Given the description of an element on the screen output the (x, y) to click on. 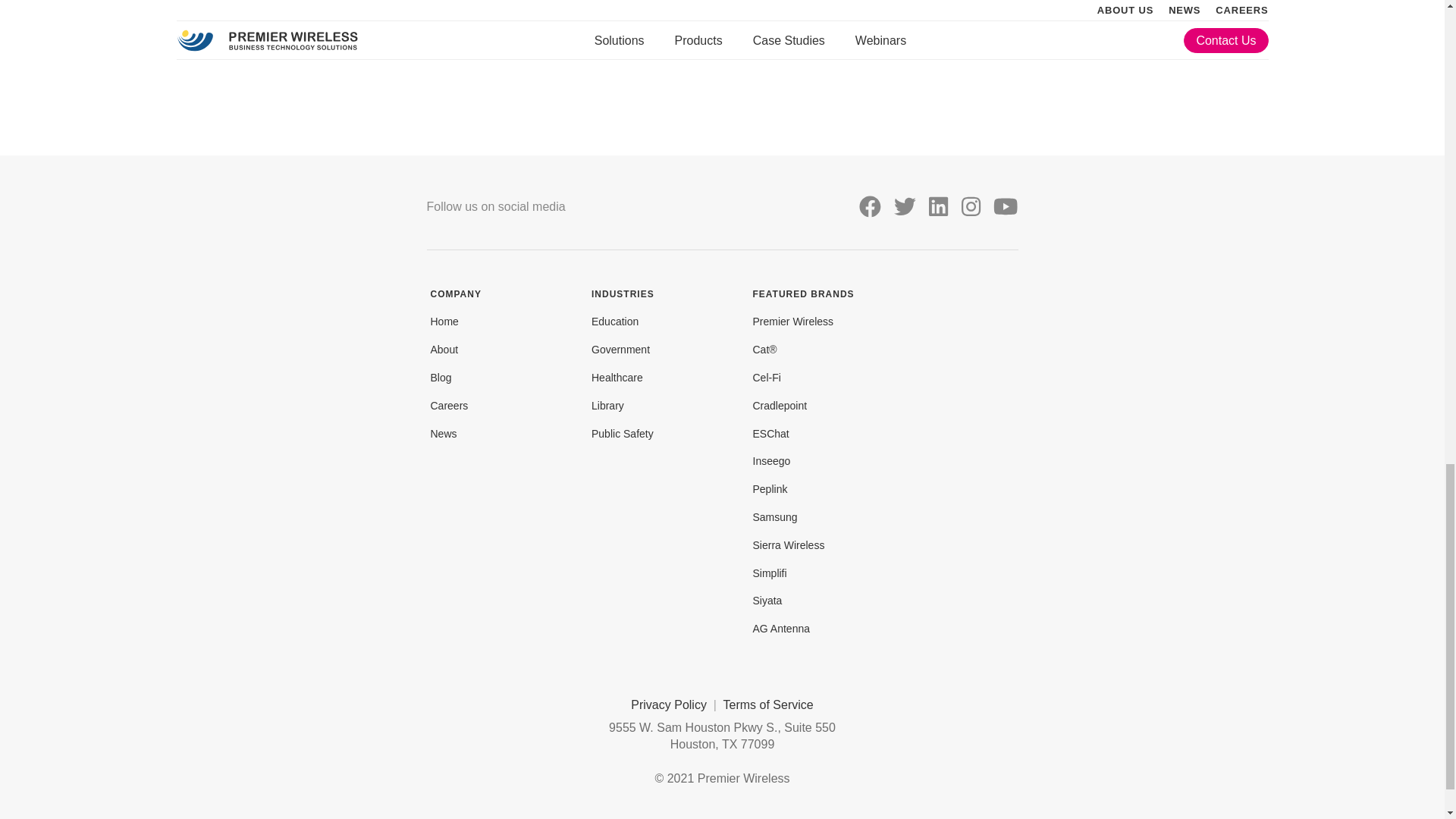
Inseego (771, 460)
About (444, 349)
Cel-Fi (766, 377)
ESChat (770, 433)
Blog (440, 377)
Government (620, 349)
Library (607, 405)
Open chat (806, 11)
News (443, 433)
Samsung (774, 517)
Healthcare (617, 377)
Public Safety (622, 433)
Home (444, 321)
Cradlepoint (779, 405)
Careers (449, 405)
